Given the description of an element on the screen output the (x, y) to click on. 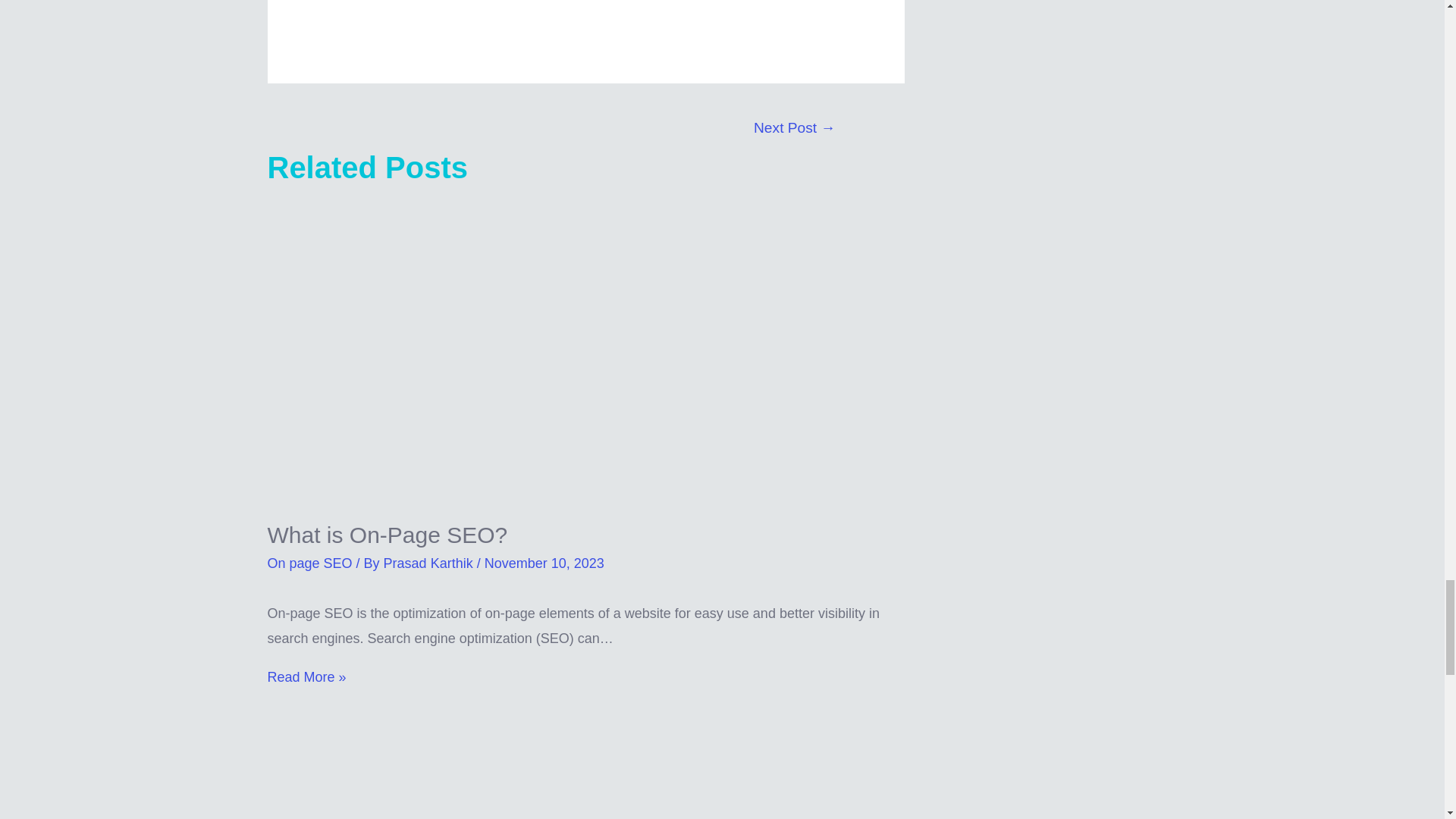
View all posts by Prasad Karthik (430, 563)
